Given the description of an element on the screen output the (x, y) to click on. 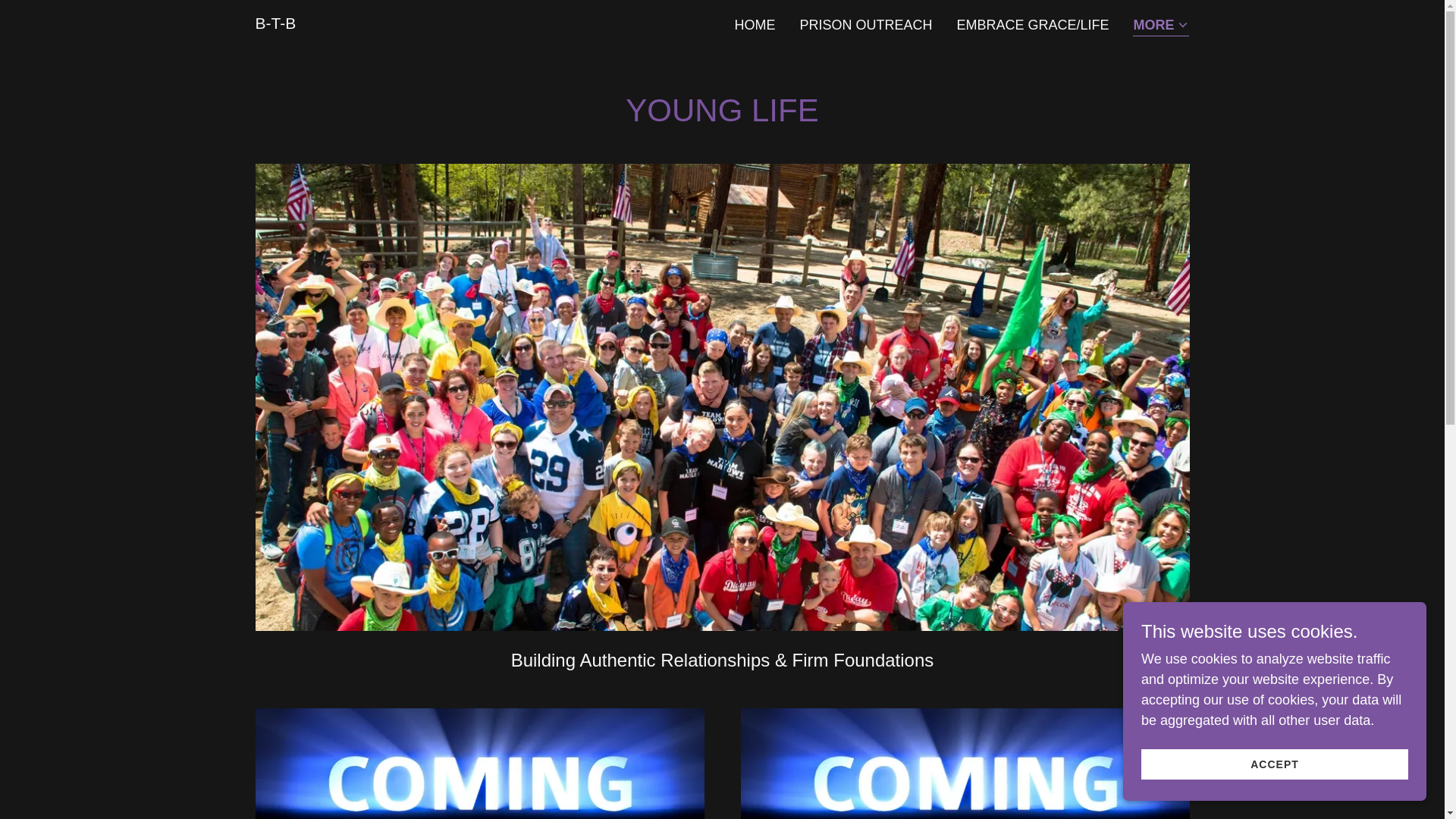
HOME (753, 24)
B-T-B (274, 23)
PRISON OUTREACH (865, 24)
B-T-B (274, 23)
MORE (1160, 25)
